Given the description of an element on the screen output the (x, y) to click on. 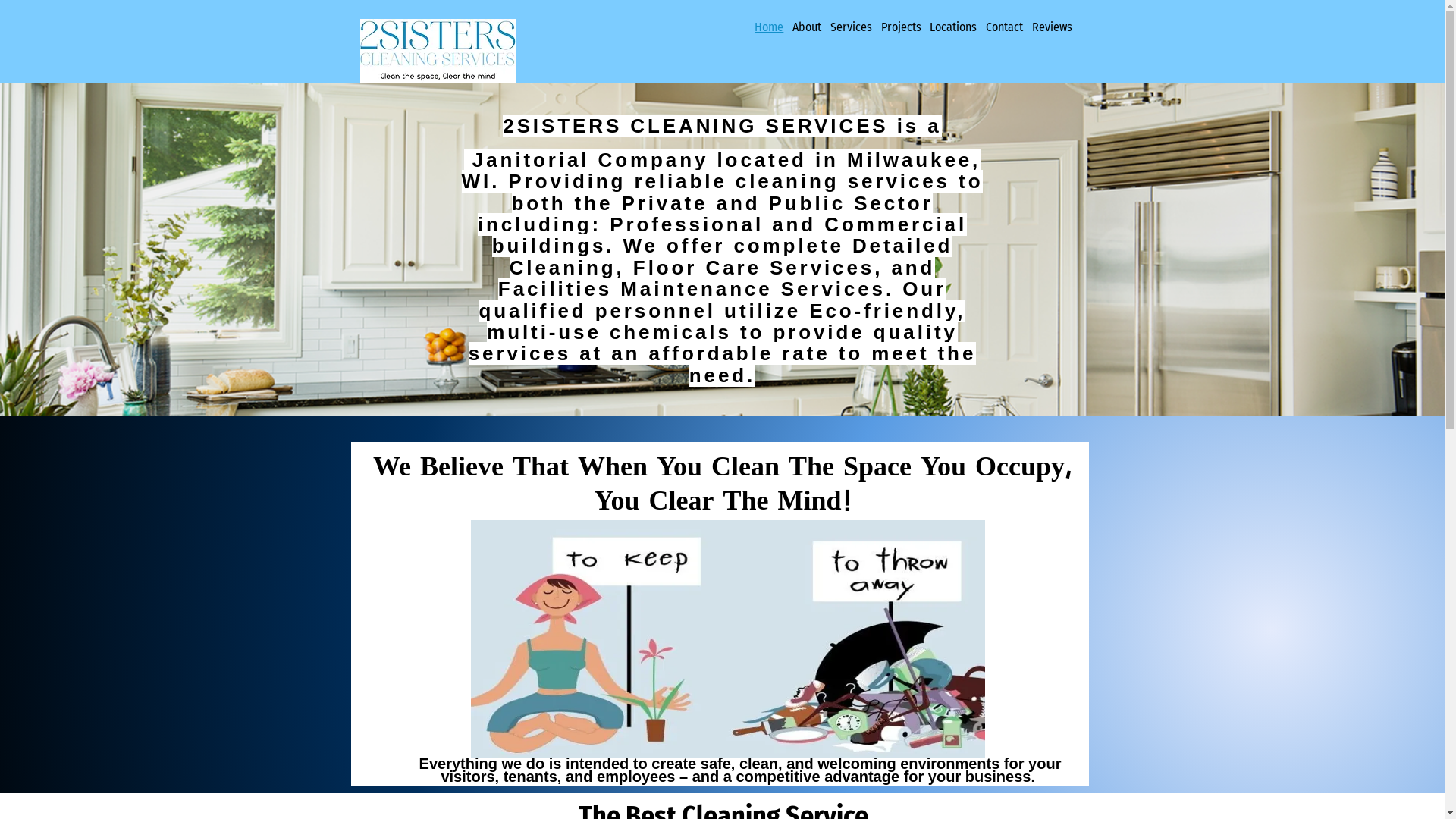
Locations Element type: text (953, 26)
About Element type: text (806, 26)
image_edited.jpg Element type: hover (436, 50)
Contact Element type: text (1004, 26)
Home Element type: text (769, 26)
Projects Element type: text (900, 26)
Services Element type: text (850, 26)
Reviews Element type: text (1051, 26)
